Given the description of an element on the screen output the (x, y) to click on. 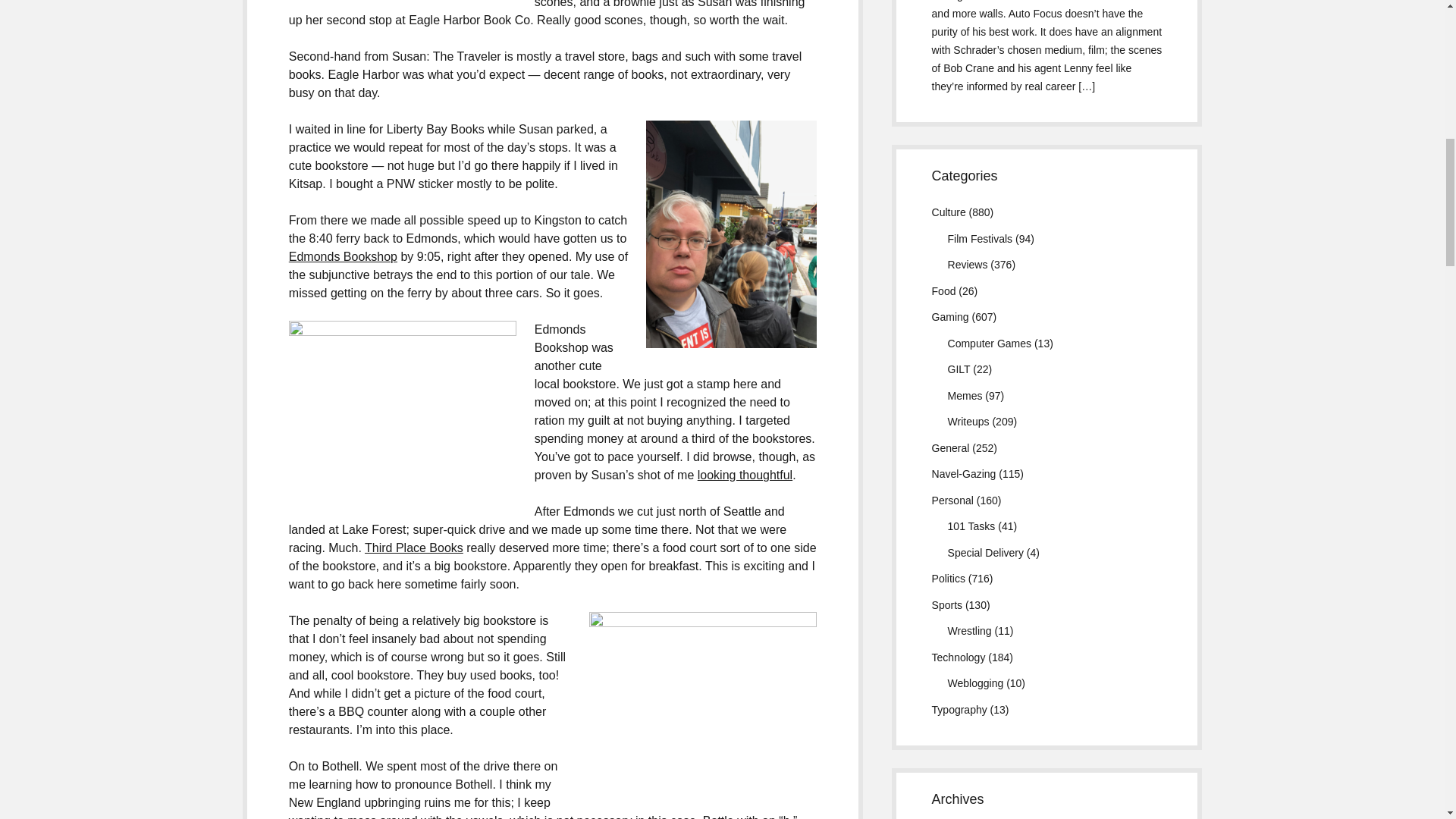
Edmonds Bookshop (342, 256)
looking thoughtful (744, 474)
Third Place Books (414, 547)
